Given the description of an element on the screen output the (x, y) to click on. 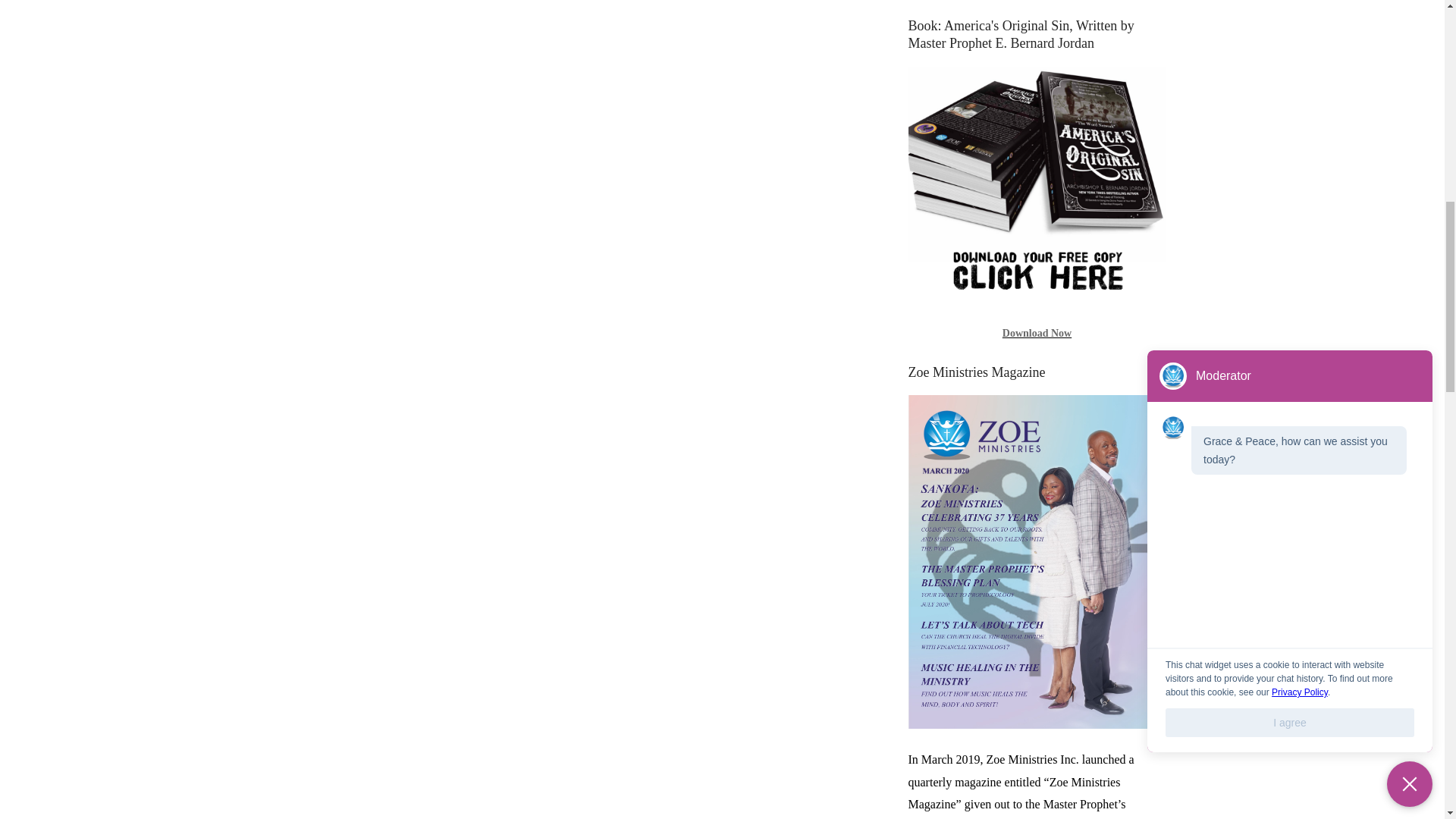
Download Now (1037, 333)
